Given the description of an element on the screen output the (x, y) to click on. 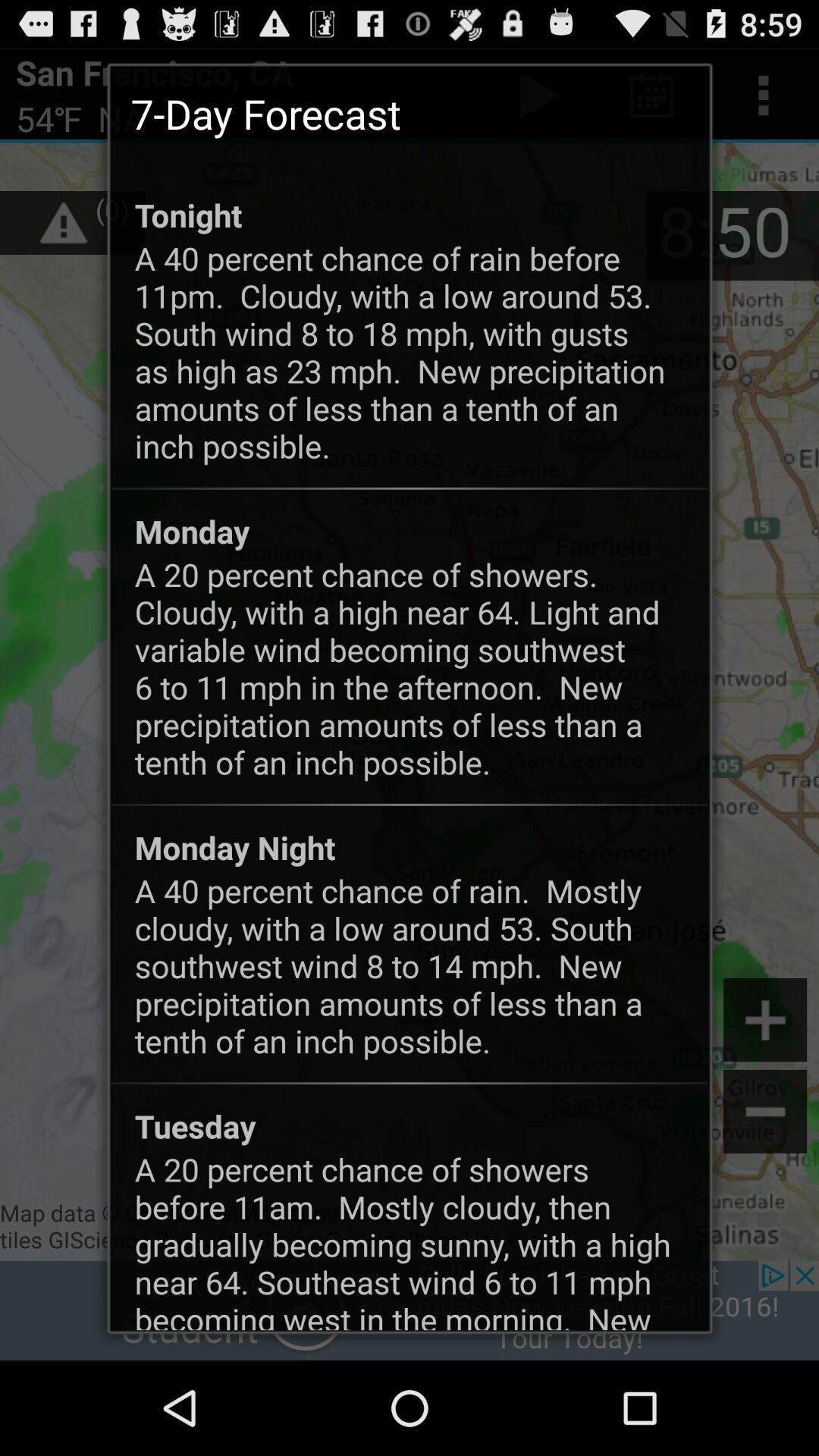
launch the icon below the a 40 percent (194, 1125)
